Given the description of an element on the screen output the (x, y) to click on. 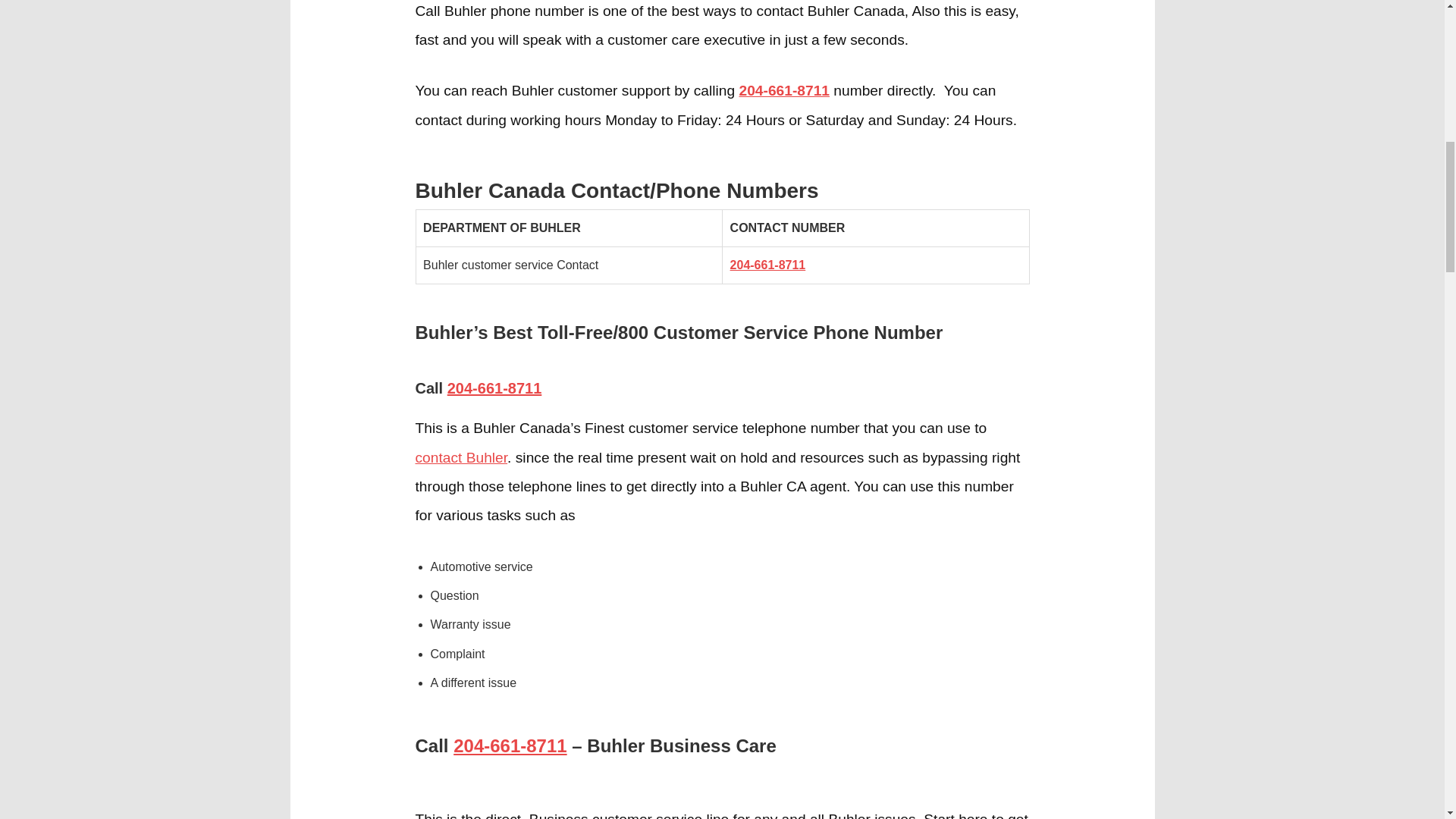
204-661-8711 (768, 264)
204-661-8711 (493, 388)
204-661-8711 (509, 745)
204-661-8711 (783, 90)
contact Buhler (461, 457)
